Given the description of an element on the screen output the (x, y) to click on. 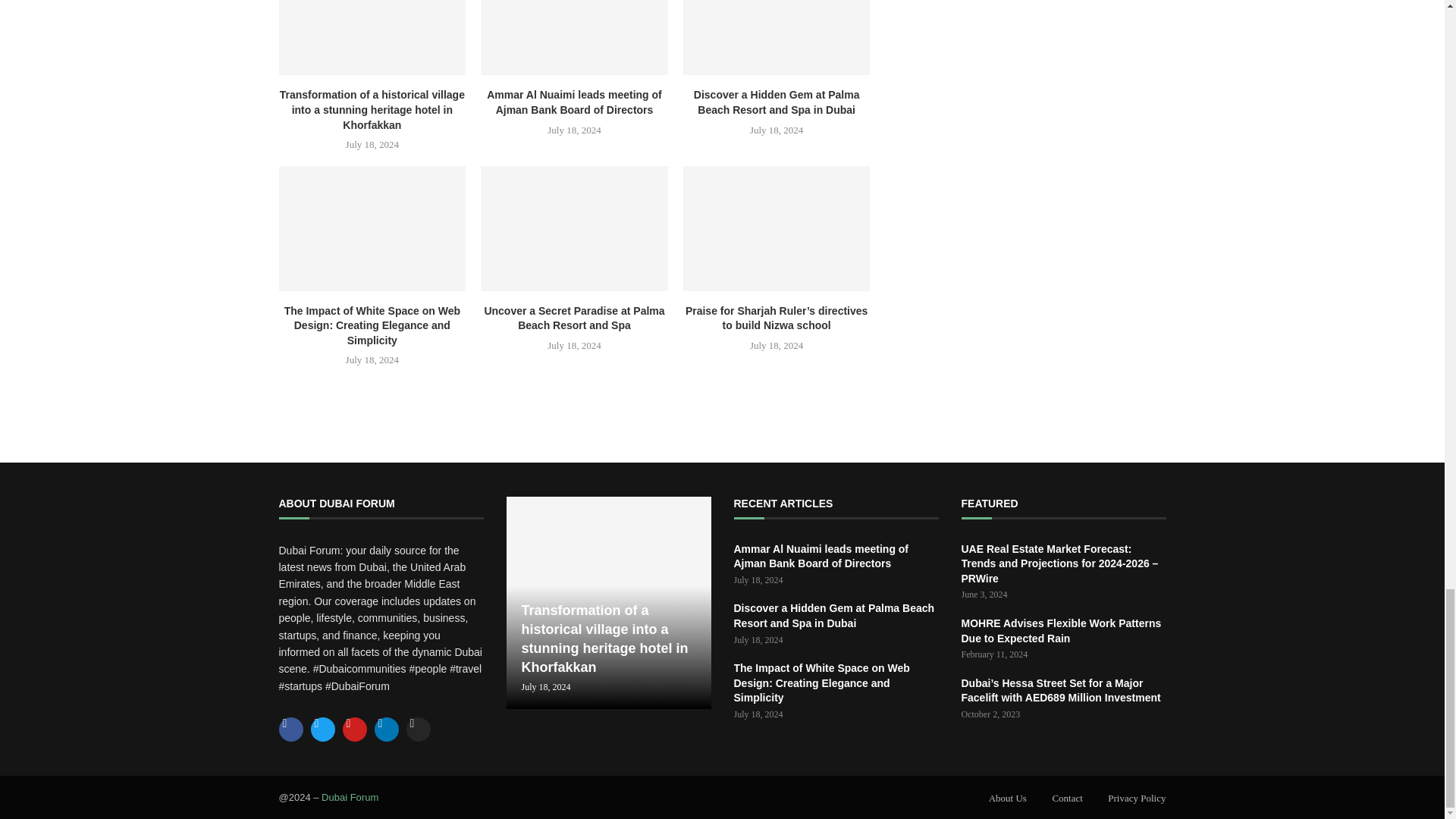
Uncover a Secret Paradise at Palma Beach Resort and Spa (574, 228)
Discover a Hidden Gem at Palma Beach Resort and Spa in Dubai (776, 37)
